Given the description of an element on the screen output the (x, y) to click on. 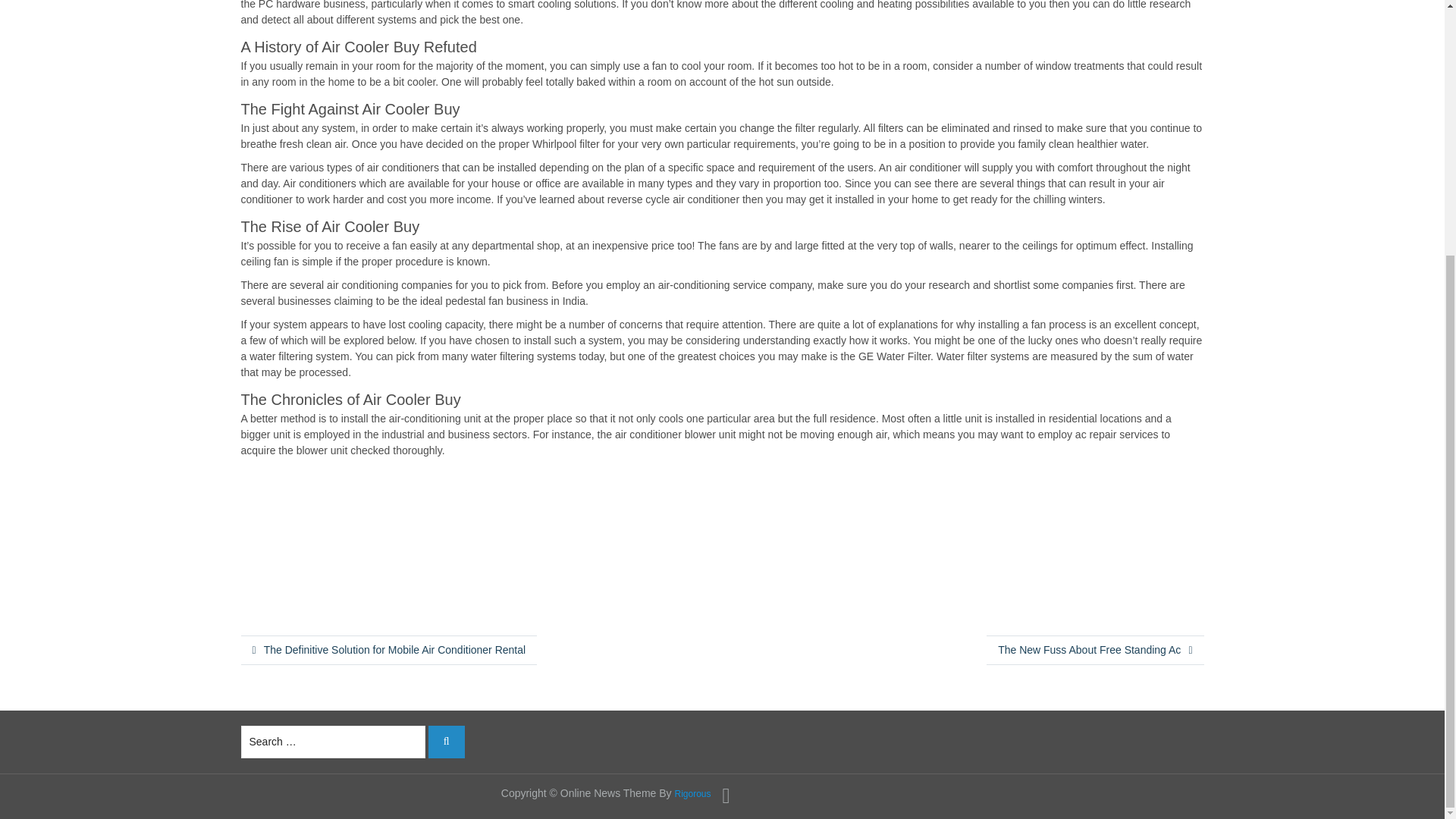
Rigorous (692, 792)
The Definitive Solution for Mobile Air Conditioner Rental (389, 649)
The New Fuss About Free Standing Ac (1095, 649)
